Given the description of an element on the screen output the (x, y) to click on. 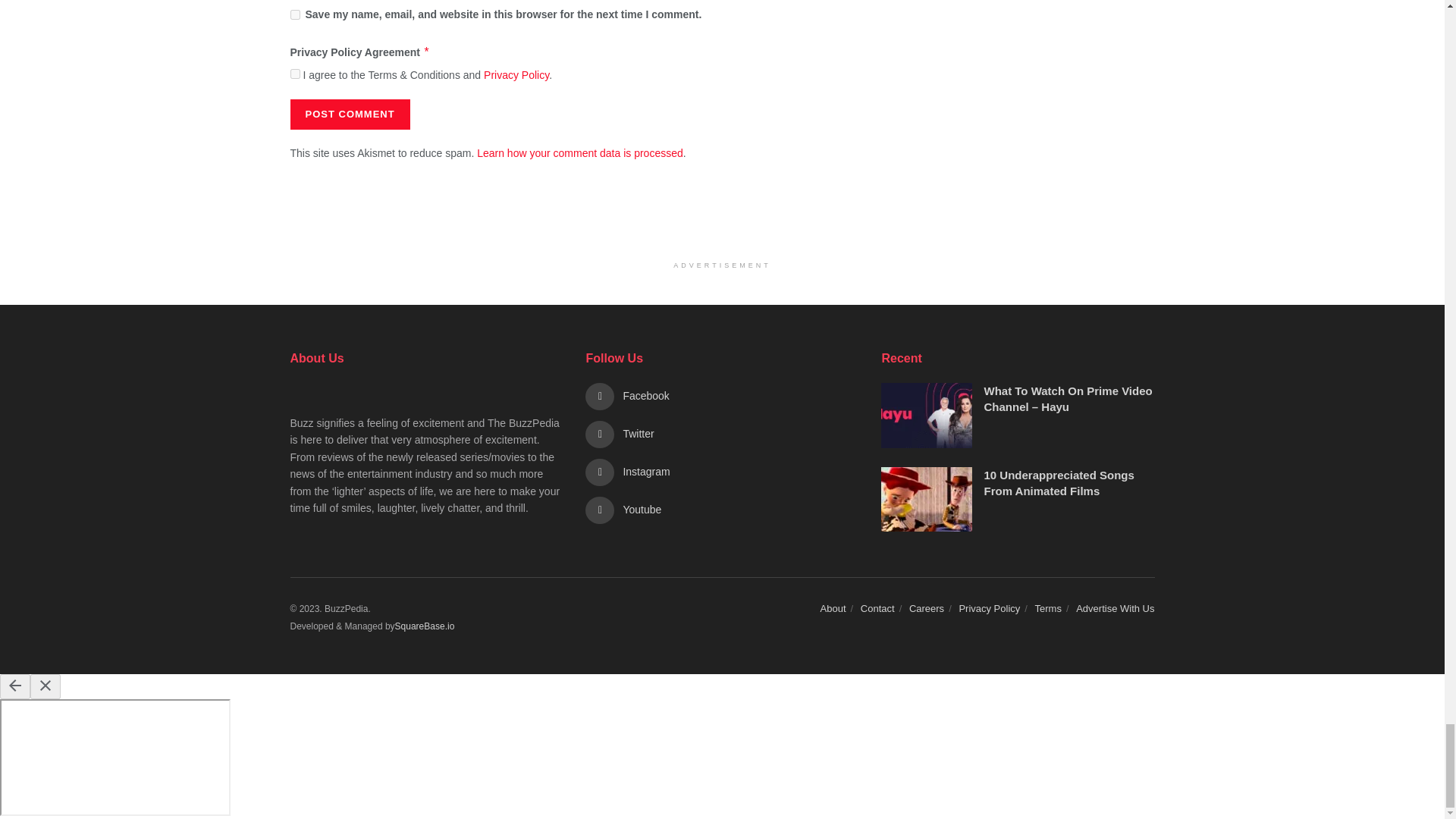
on (294, 73)
Post Comment (349, 114)
yes (294, 14)
